Given the description of an element on the screen output the (x, y) to click on. 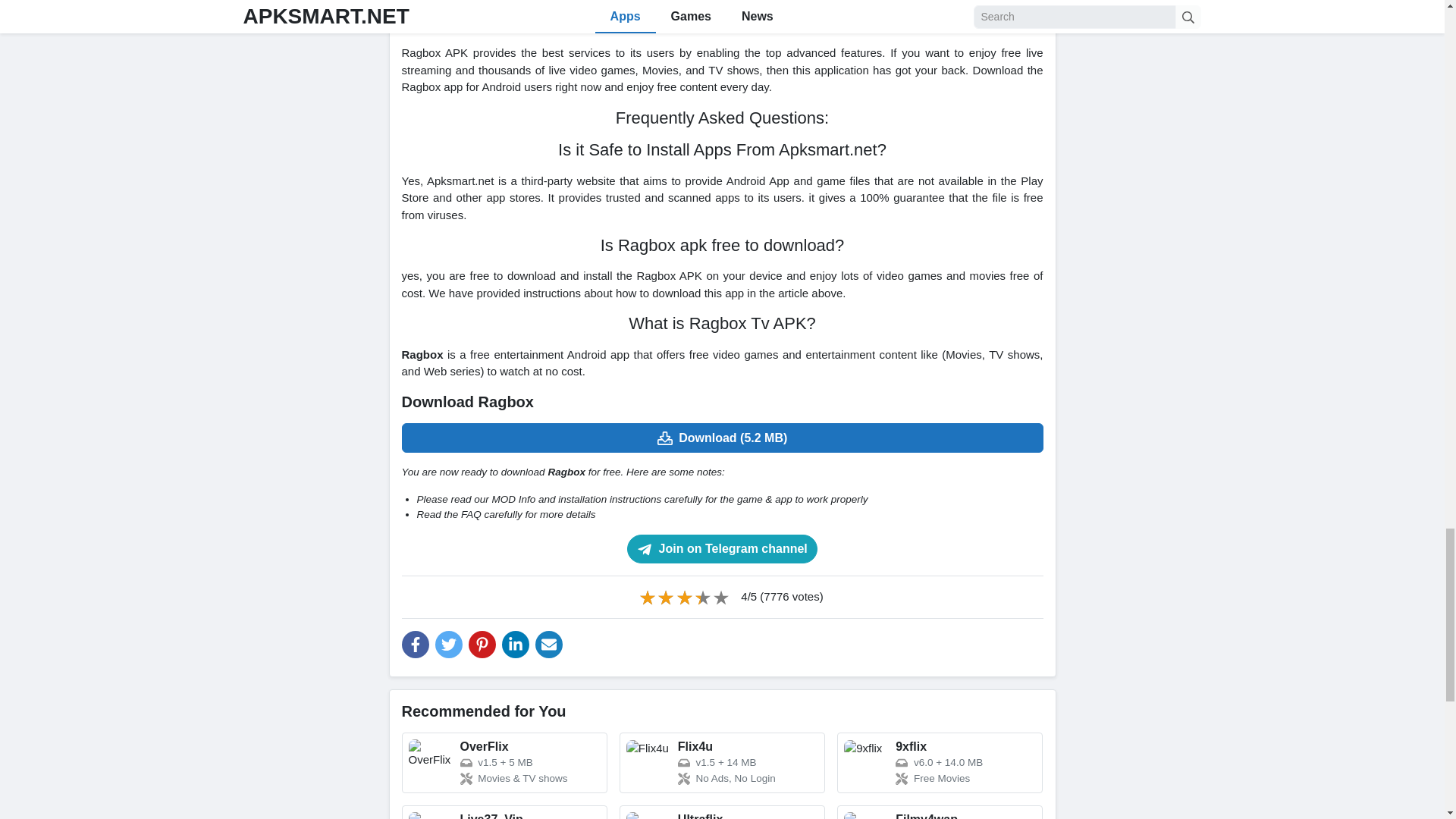
Filmy4wap (939, 812)
Live37. Vip (504, 812)
Join on Telegram channel (721, 548)
Flix4u (722, 762)
OverFlix (504, 762)
Ultraflix (722, 812)
9xflix (939, 762)
